Given the description of an element on the screen output the (x, y) to click on. 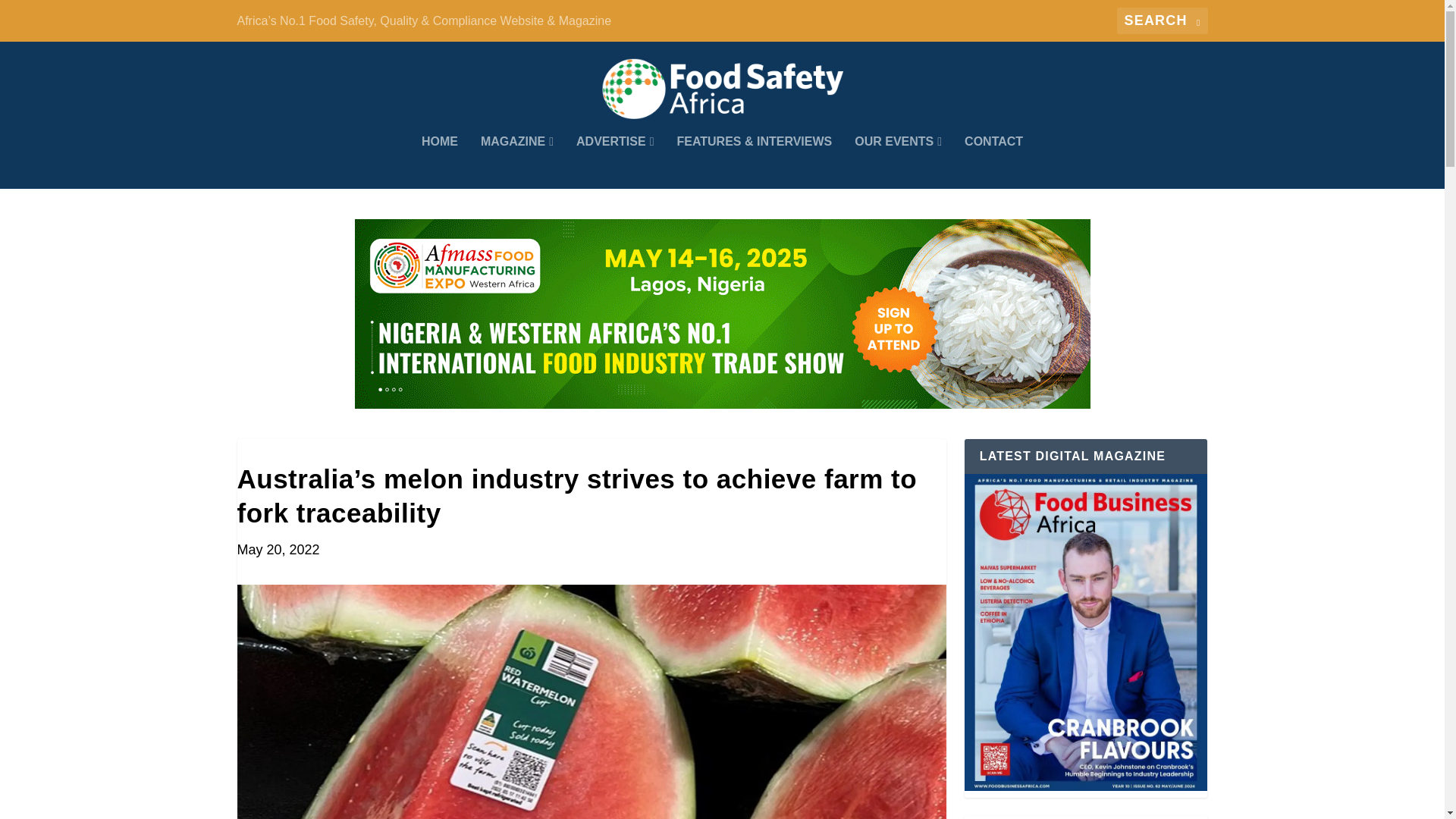
OUR EVENTS (898, 162)
ADVERTISE (614, 162)
Search for: (1161, 20)
CONTACT (993, 162)
MAGAZINE (516, 162)
